Given the description of an element on the screen output the (x, y) to click on. 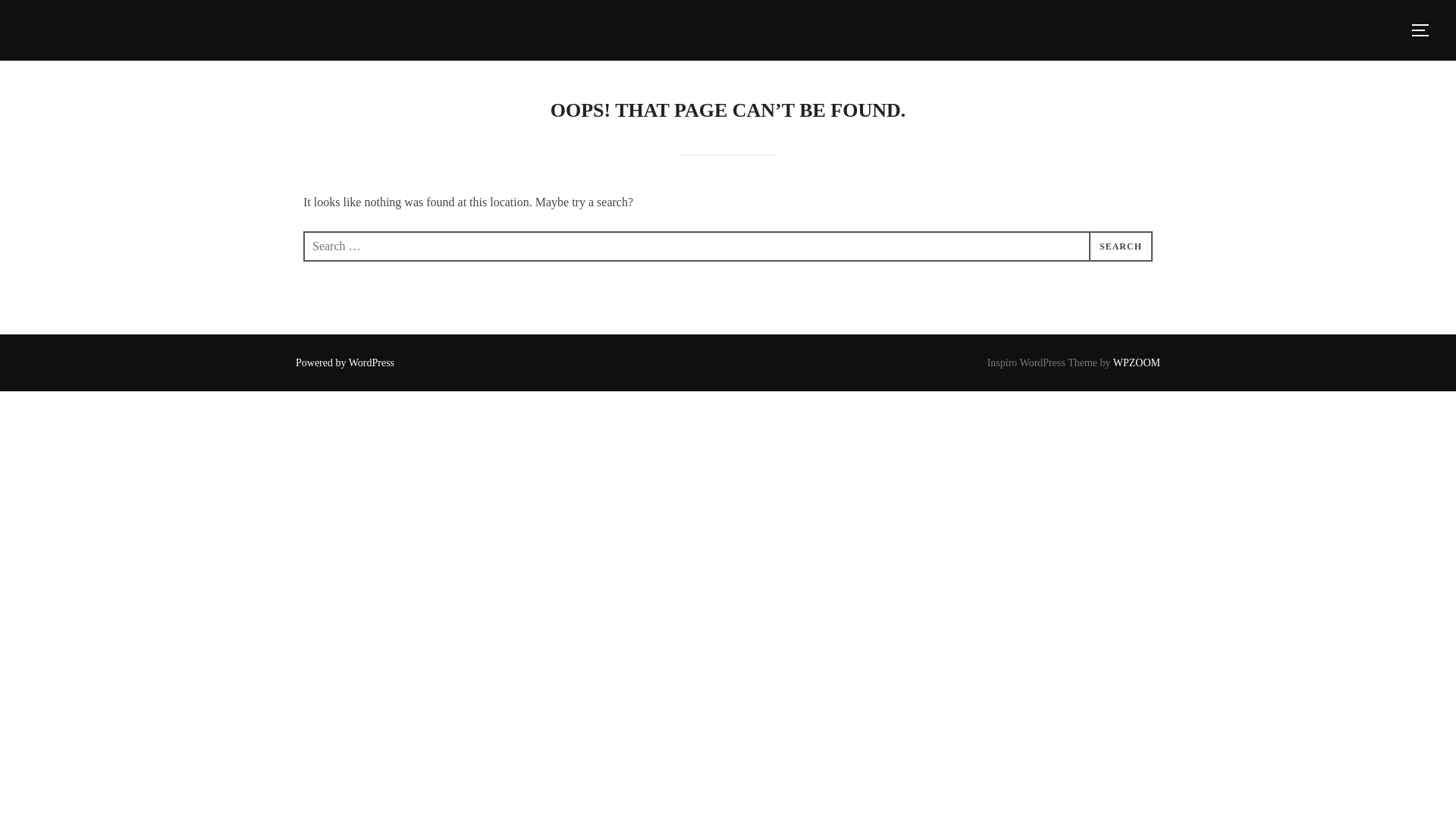
WPZOOM (1136, 362)
Powered by WordPress (344, 362)
SEARCH (1121, 245)
